Given the description of an element on the screen output the (x, y) to click on. 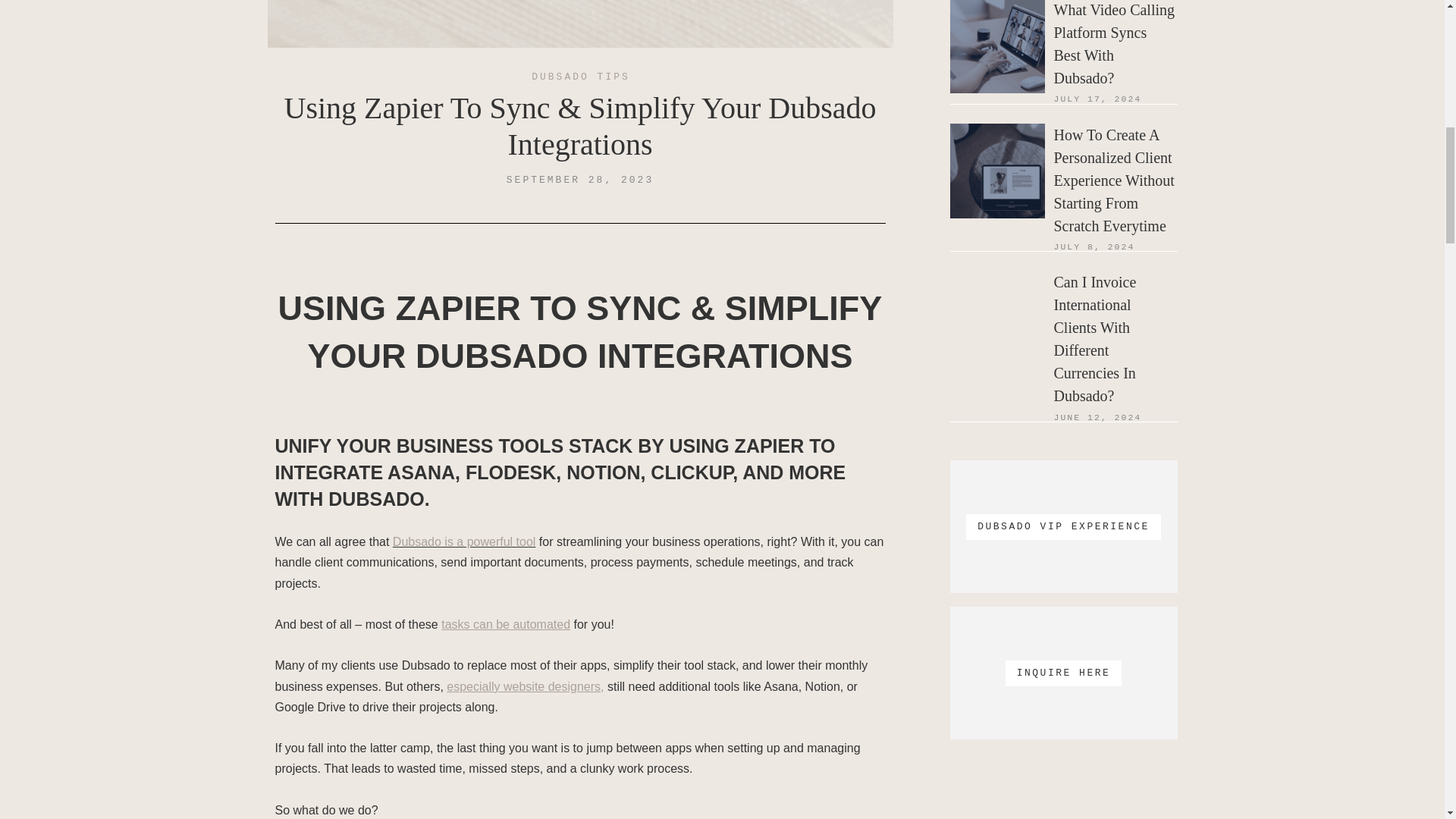
tasks can be automated (505, 624)
DUBSADO TIPS (580, 76)
SEPTEMBER 28, 2023 (579, 179)
especially website designers, (526, 686)
Dubsado is a powerful tool (464, 541)
INQUIRE HERE (1062, 672)
What Video Calling Platform Syncs Best With Dubsado? (1115, 44)
DUBSADO VIP EXPERIENCE (1062, 526)
